Given the description of an element on the screen output the (x, y) to click on. 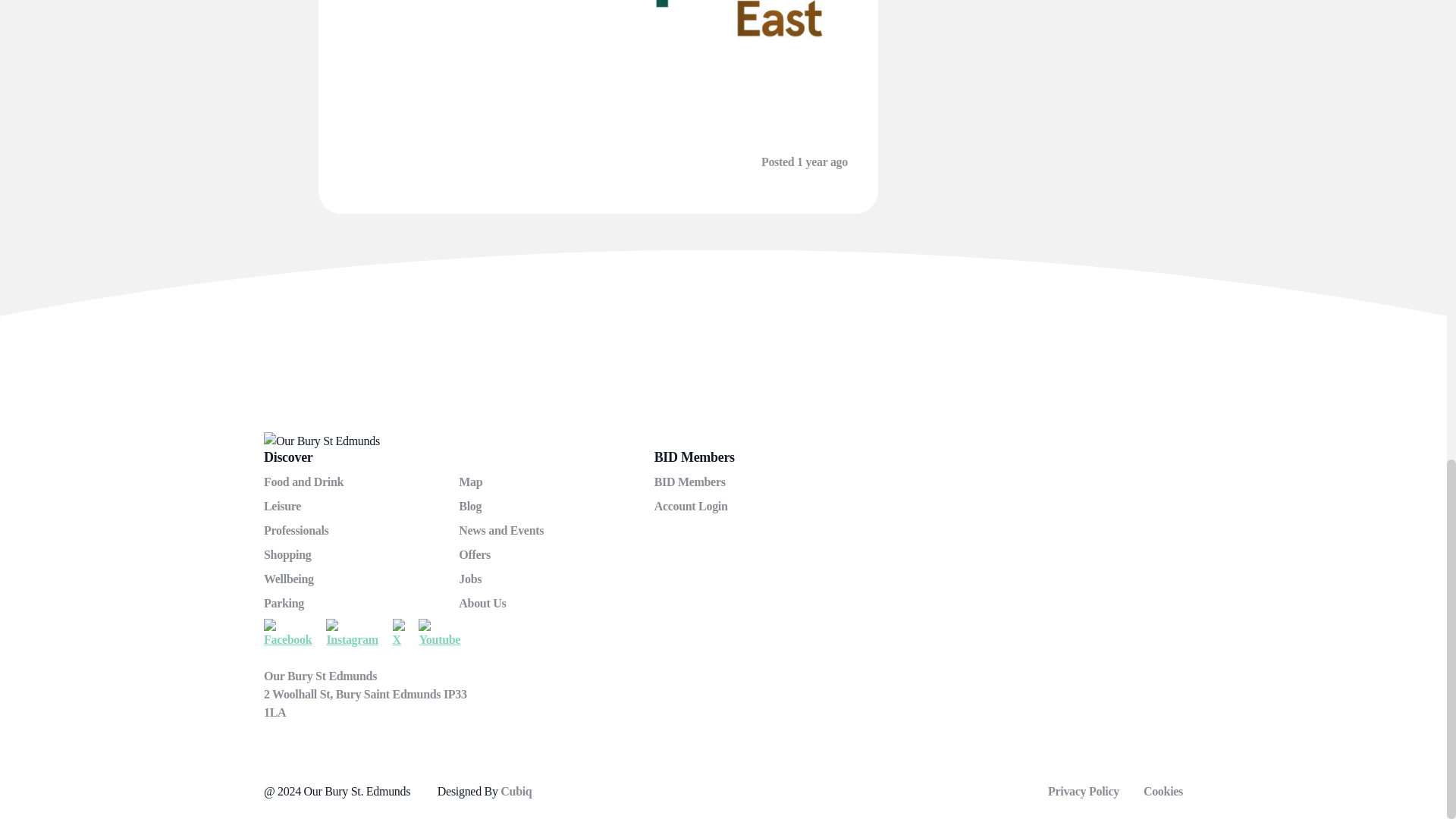
Leisure (282, 505)
Shopping (287, 554)
Map (469, 481)
News and Events (500, 530)
Jobs (469, 578)
Professionals (296, 530)
Offers (474, 554)
Food and Drink (303, 481)
Wellbeing (288, 578)
About Us (481, 603)
